Given the description of an element on the screen output the (x, y) to click on. 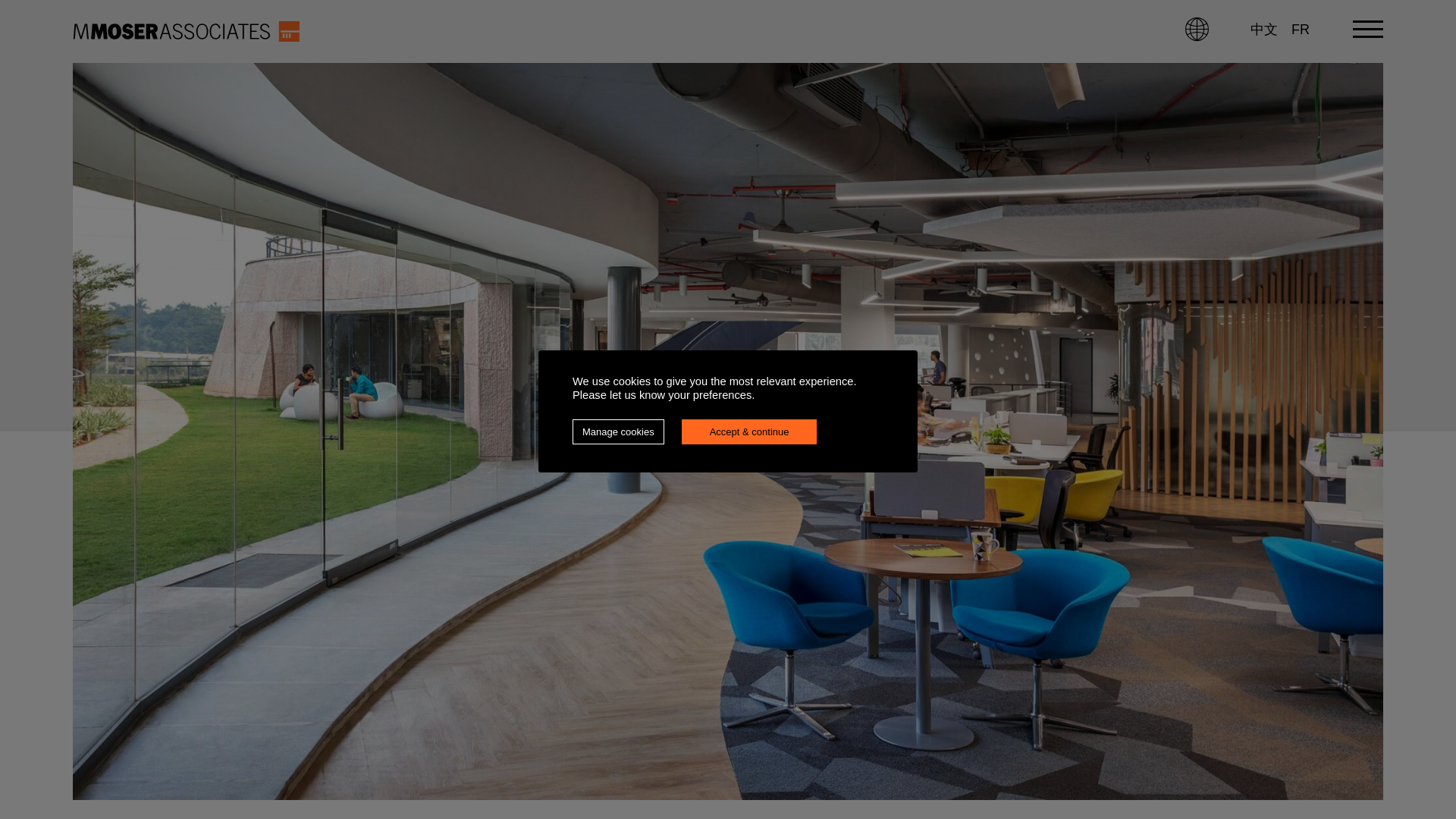
FR (1299, 29)
